Given the description of an element on the screen output the (x, y) to click on. 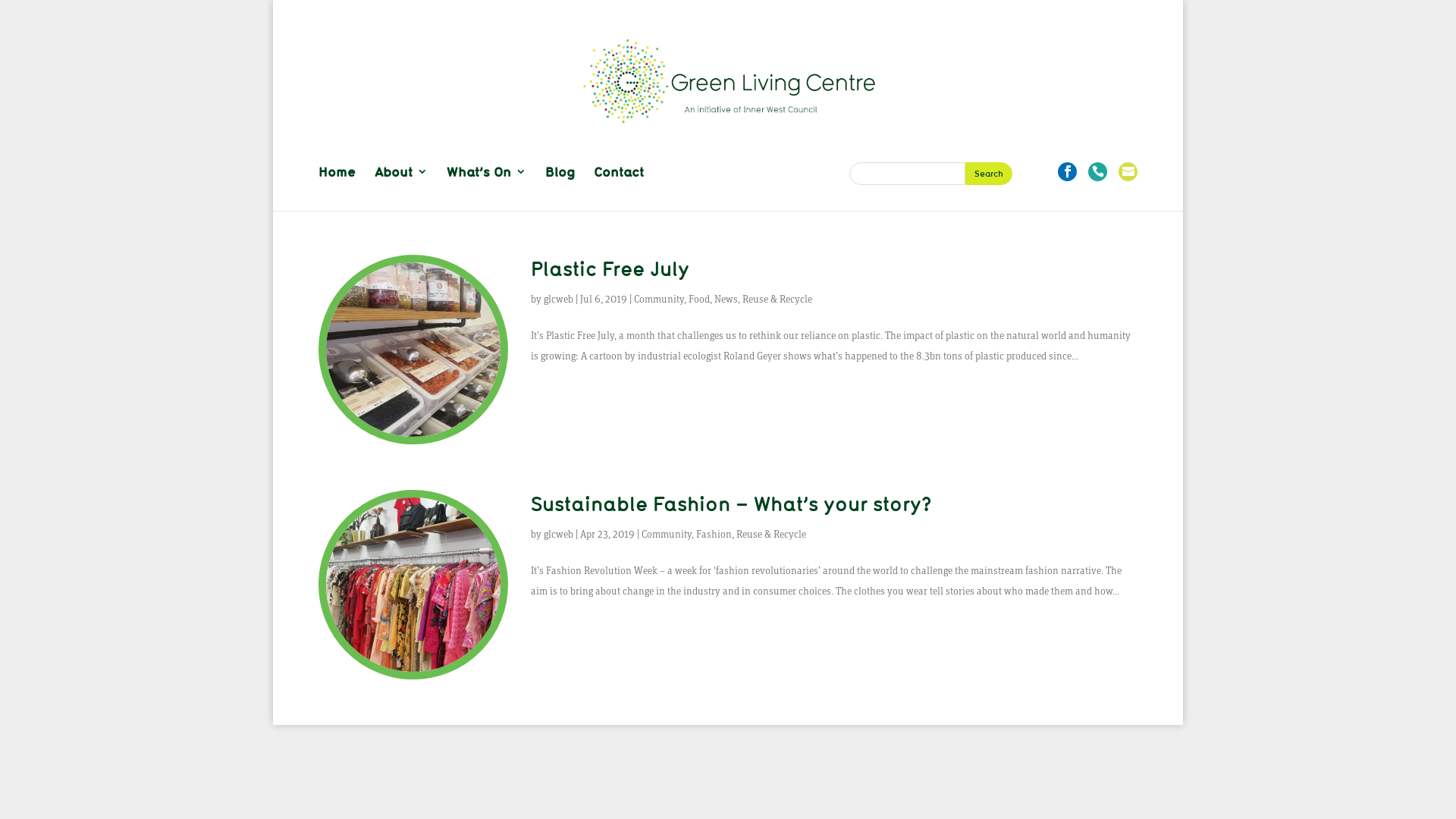
Fashion Element type: text (713, 534)
glcweb Element type: text (558, 299)
Food Element type: text (698, 299)
Search Element type: text (987, 173)
glcweb Element type: text (558, 534)
About Element type: text (400, 186)
Home Element type: text (336, 186)
Community Element type: text (658, 299)
Blog Element type: text (559, 186)
Contact Element type: text (618, 186)
Reuse & Recycle Element type: text (777, 299)
News Element type: text (725, 299)
Reuse & Recycle Element type: text (771, 534)
Community Element type: text (666, 534)
Plastic Free July Element type: text (609, 267)
